Given the description of an element on the screen output the (x, y) to click on. 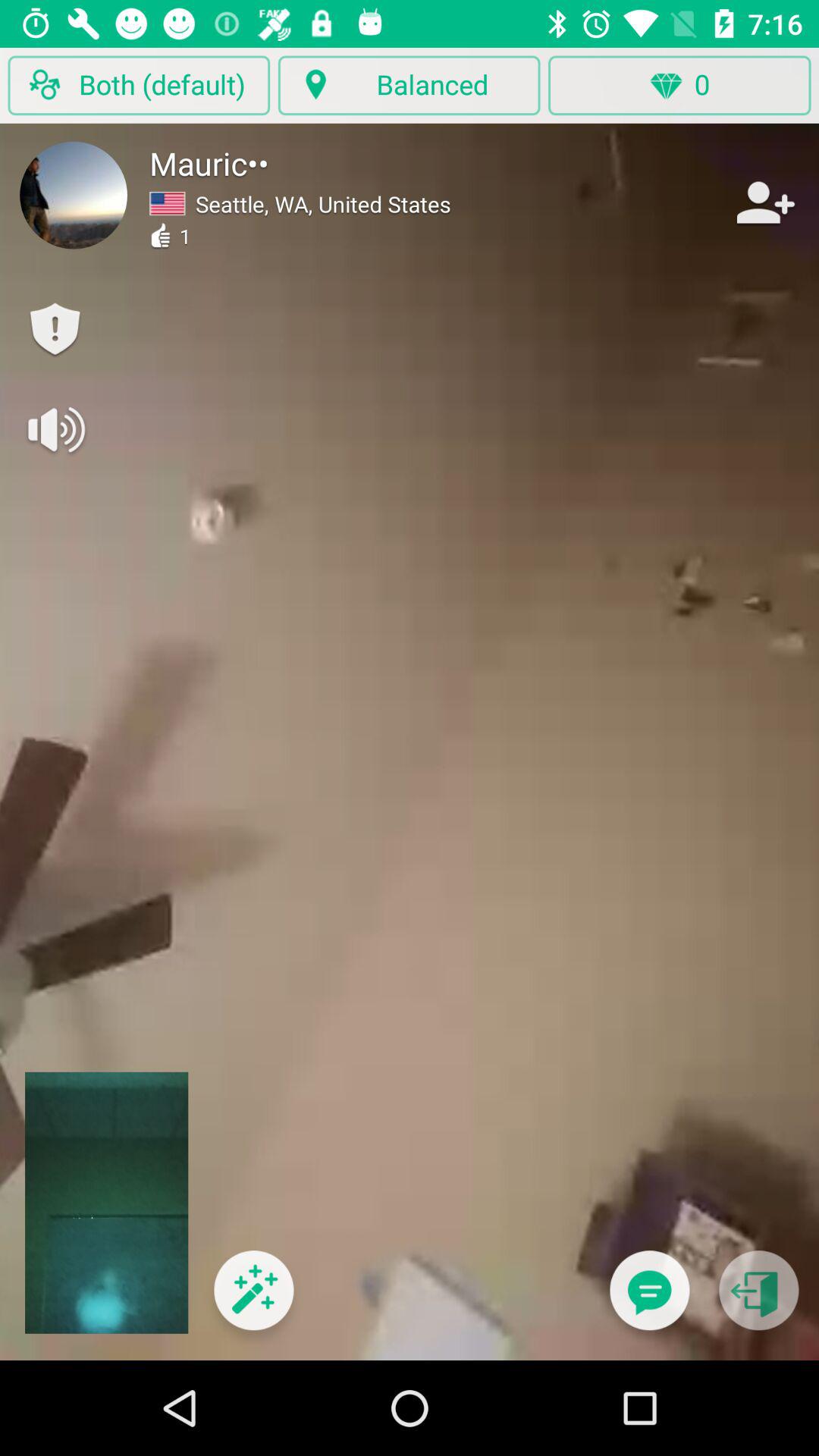
click to see profile (73, 195)
